Given the description of an element on the screen output the (x, y) to click on. 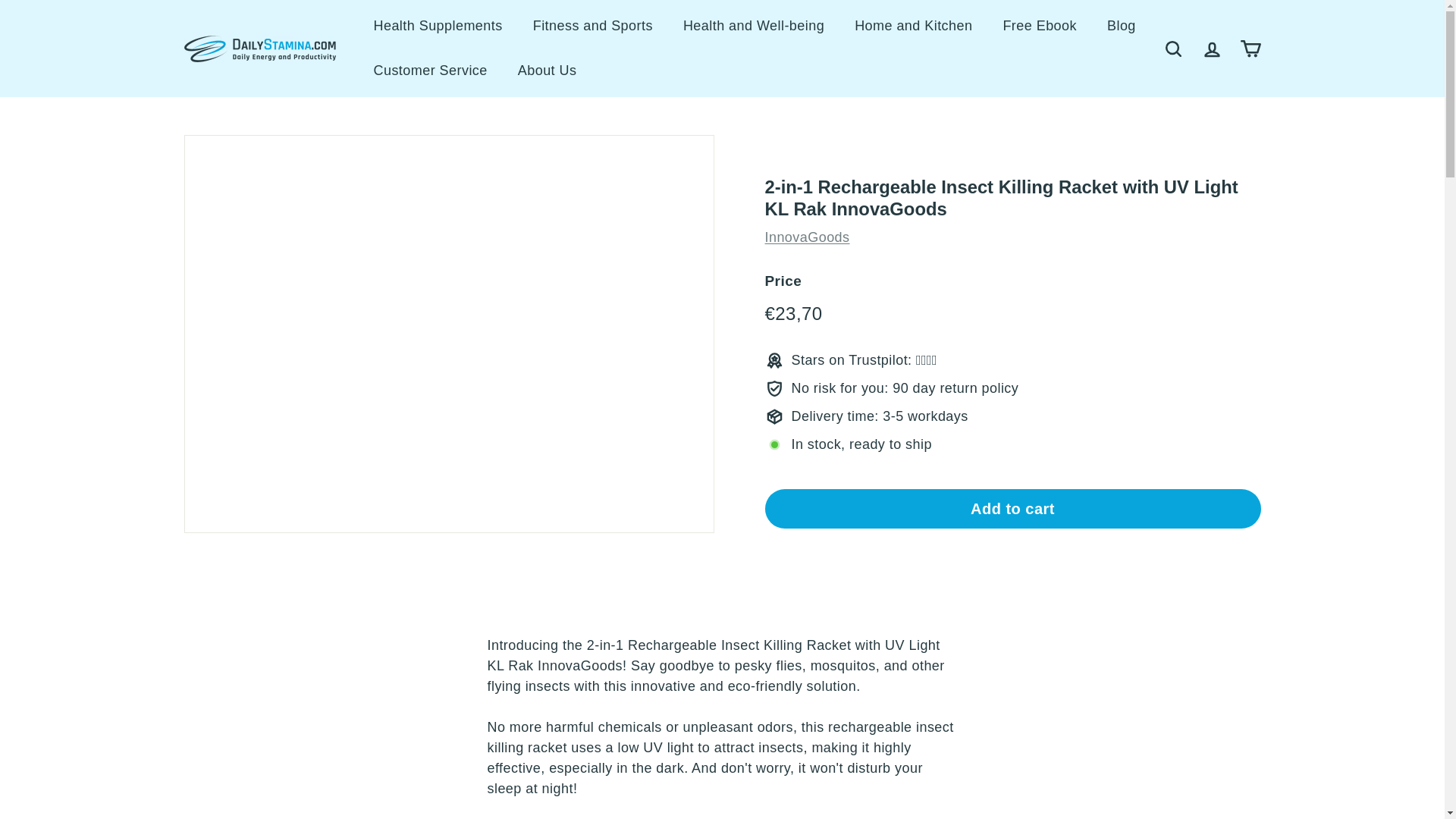
InnovaGoods (806, 237)
Home and Kitchen (913, 26)
Health and Well-being (754, 26)
Customer Service (430, 70)
Blog (1121, 26)
Free Ebook (1039, 26)
Health Supplements (437, 26)
Fitness and Sports (593, 26)
About Us (547, 70)
